Given the description of an element on the screen output the (x, y) to click on. 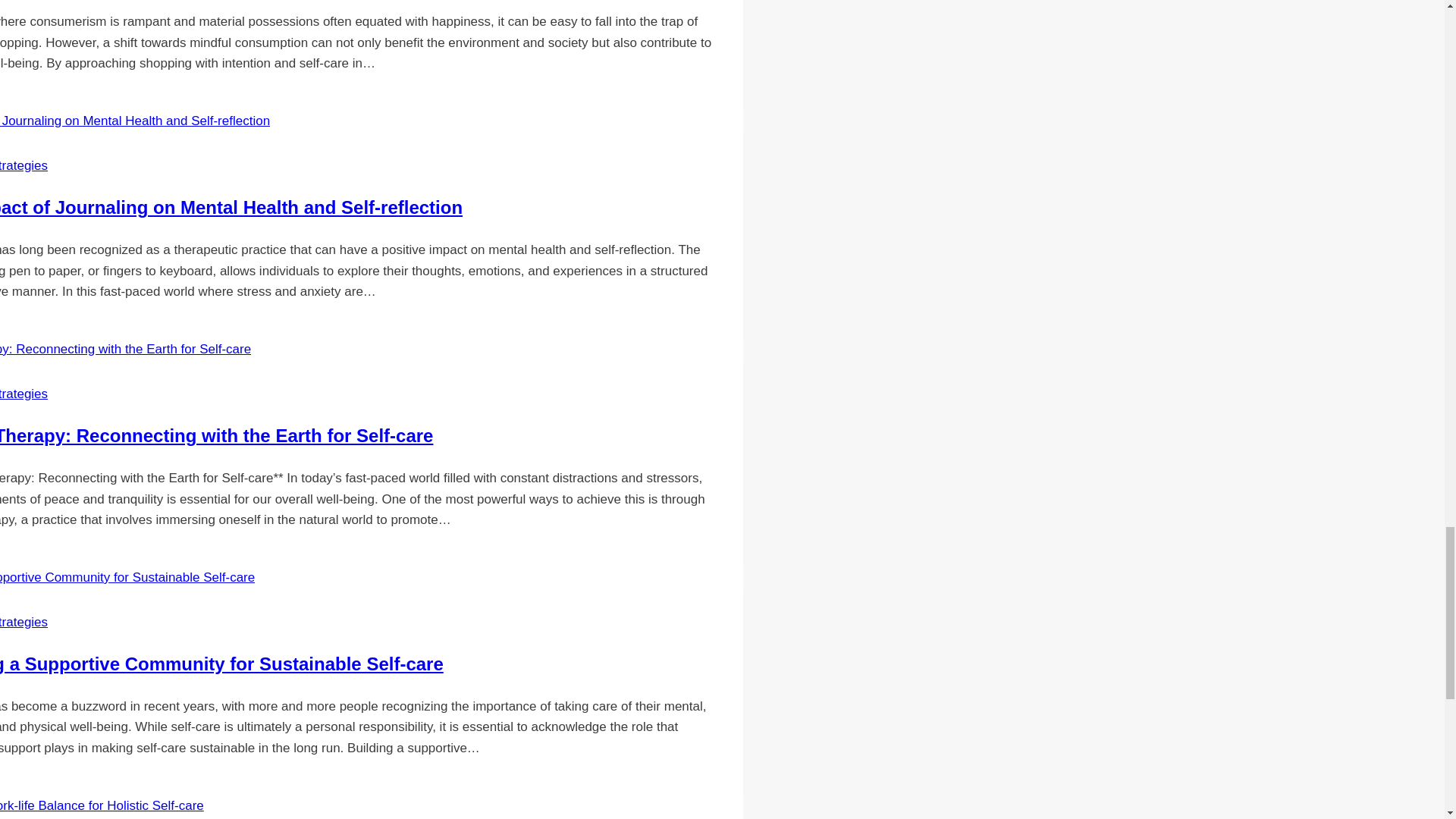
Self-Care Strategies (24, 393)
Building a Supportive Community for Sustainable Self-care (222, 663)
Nature Therapy: Reconnecting with the Earth for Self-care (216, 435)
Self-Care Strategies (24, 165)
Self-Care Strategies (24, 622)
